Given the description of an element on the screen output the (x, y) to click on. 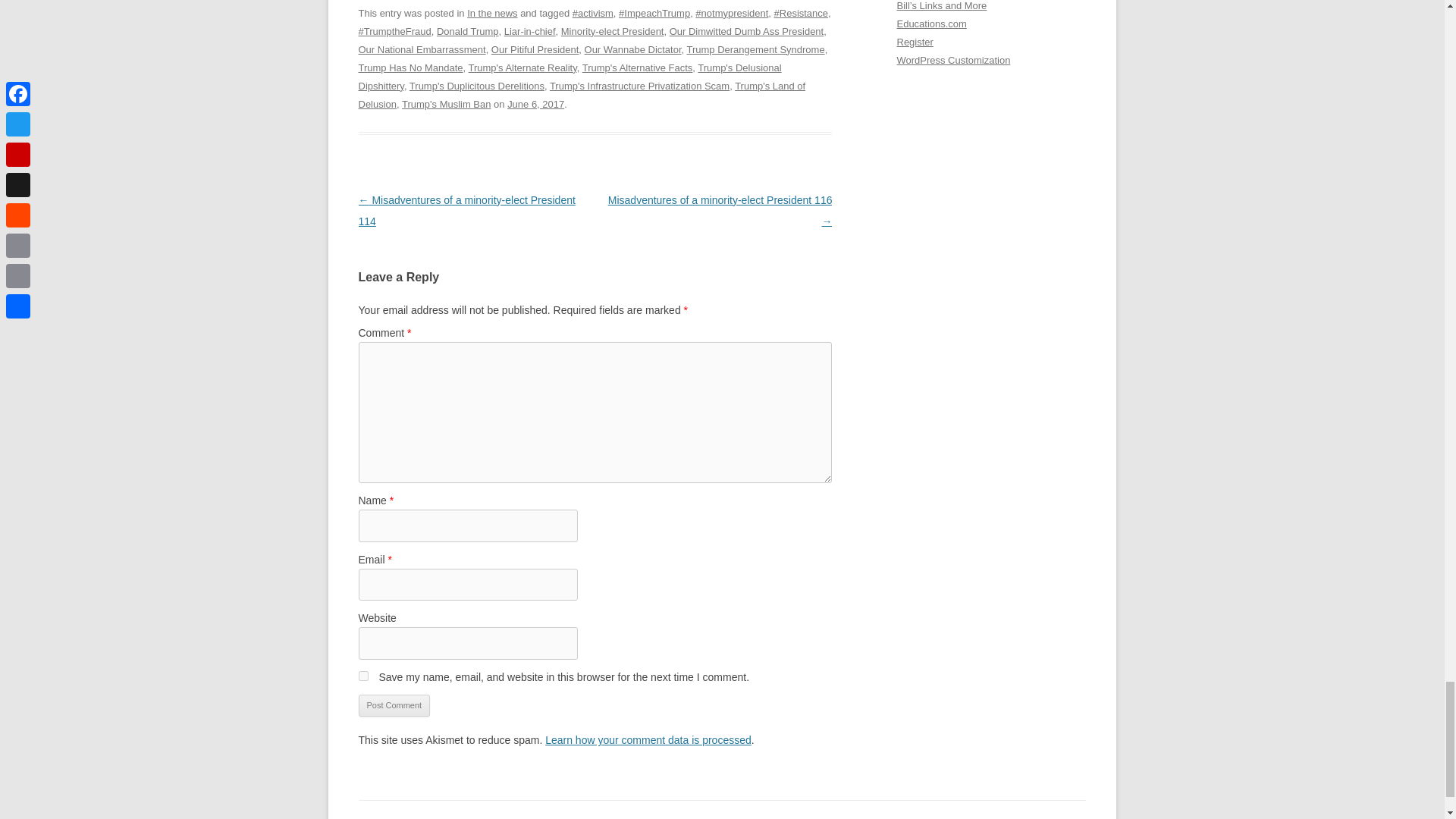
Post Comment (393, 705)
yes (363, 675)
